Given the description of an element on the screen output the (x, y) to click on. 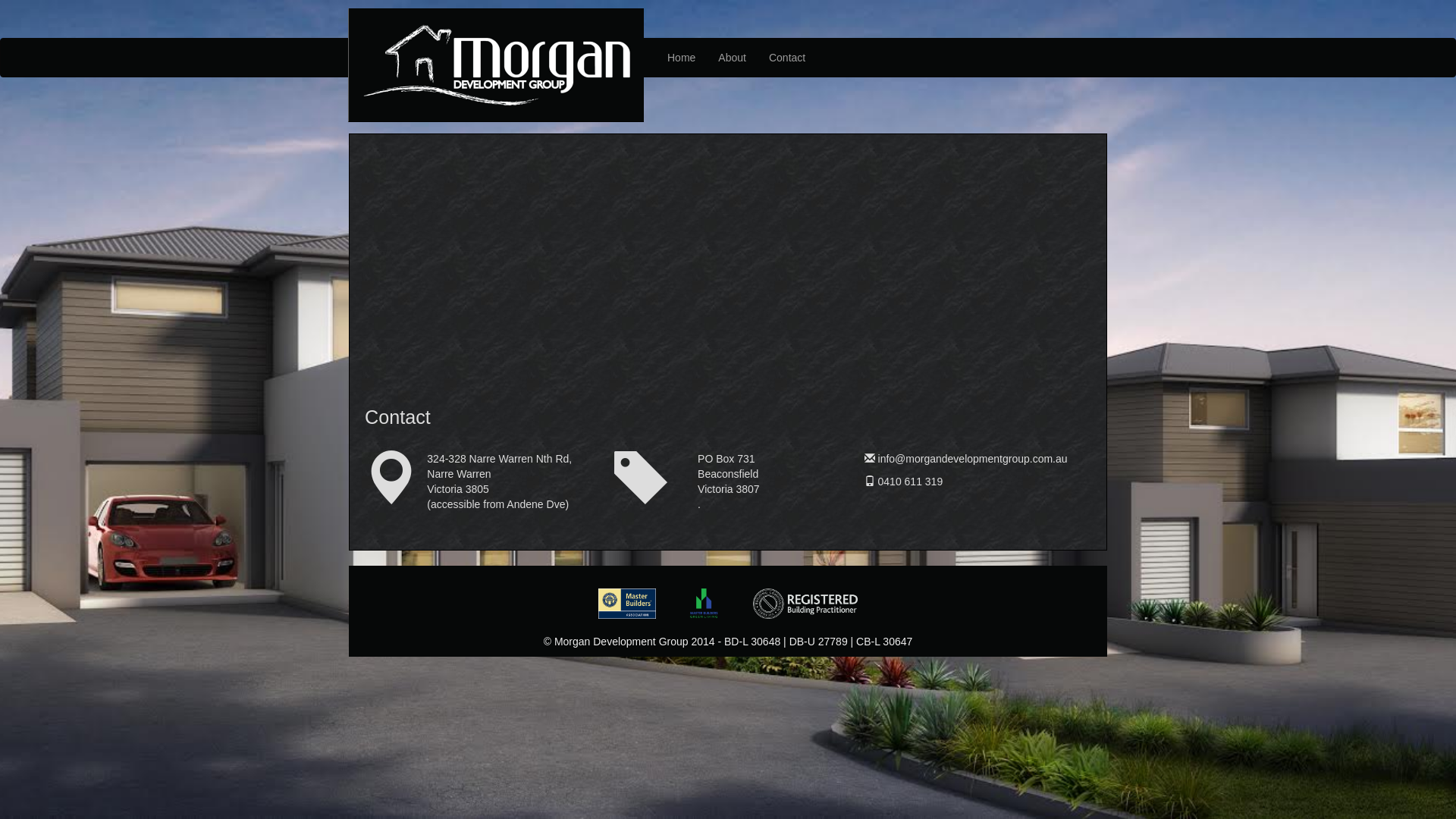
info@morgandevelopmentgroup.com.au Element type: text (972, 458)
About Element type: text (731, 57)
Home Element type: text (680, 57)
Contact Element type: text (786, 57)
